Given the description of an element on the screen output the (x, y) to click on. 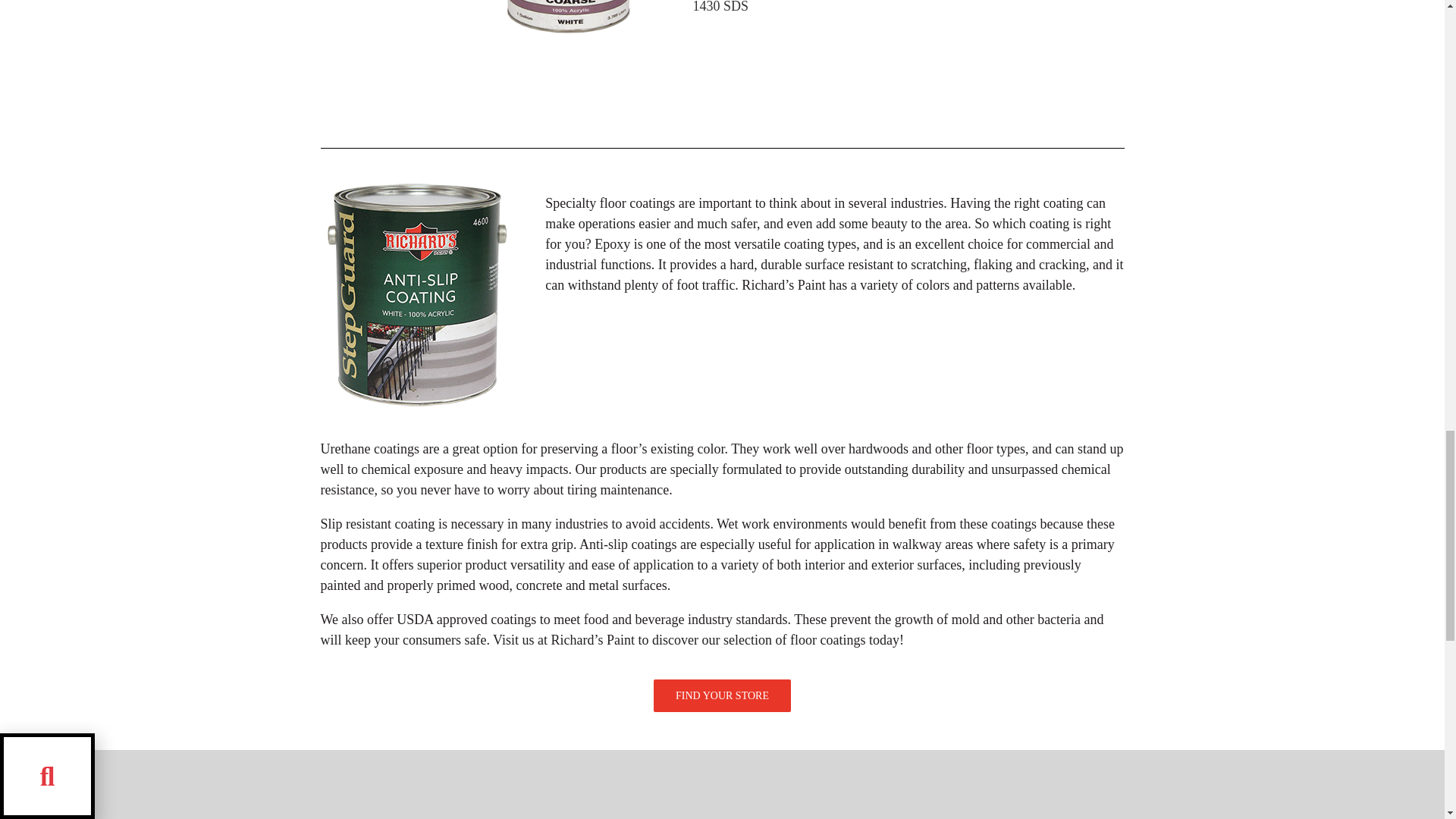
FIND YOUR STORE (722, 703)
1430 (567, 20)
